Given the description of an element on the screen output the (x, y) to click on. 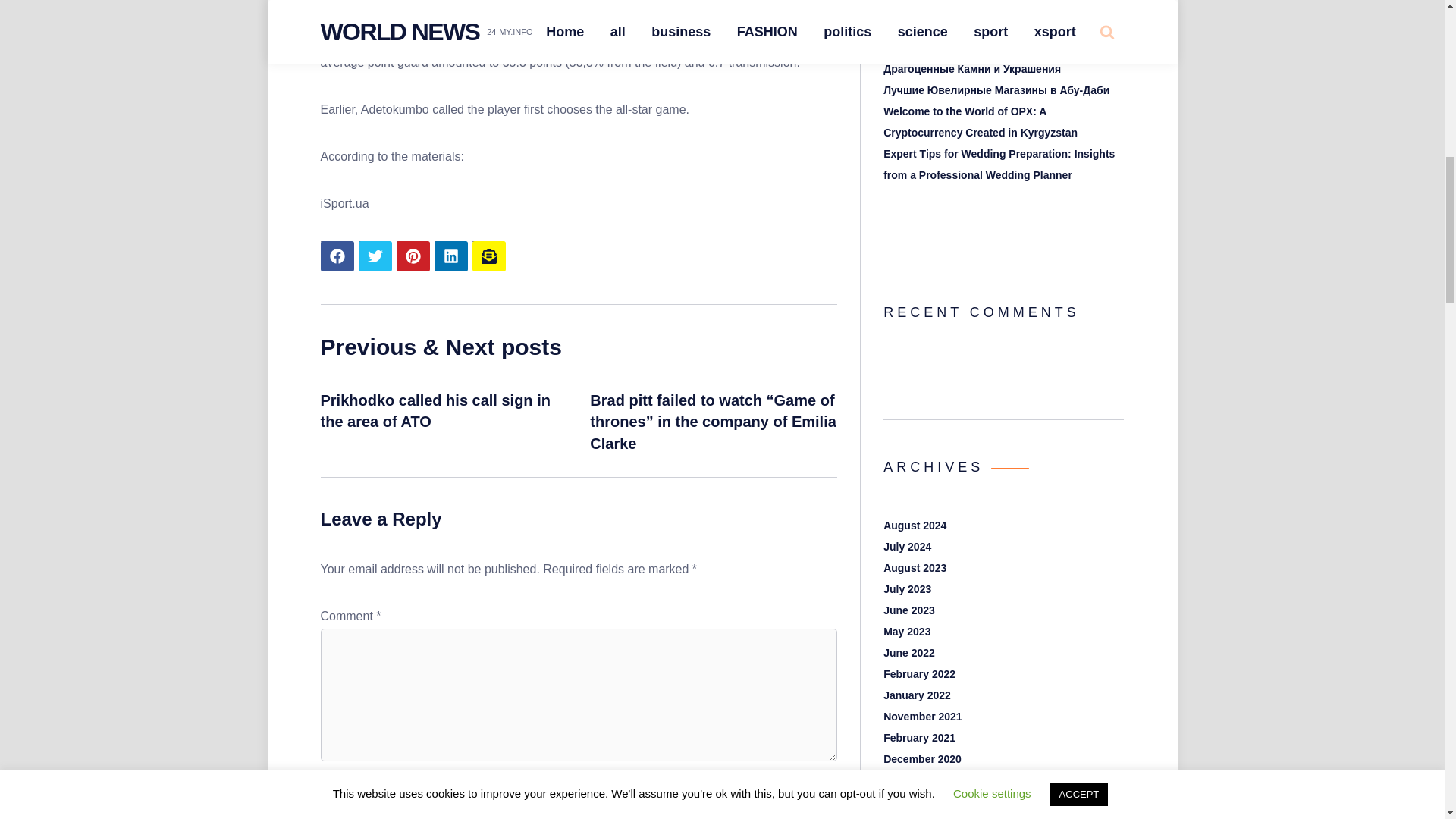
August 2024 (914, 525)
Prikhodko called his call sign in the area of ATO (435, 411)
July 2023 (907, 589)
May 2023 (906, 631)
Prikhodko called his call sign in the area of ATO (435, 411)
June 2022 (908, 653)
August 2023 (914, 567)
